Given the description of an element on the screen output the (x, y) to click on. 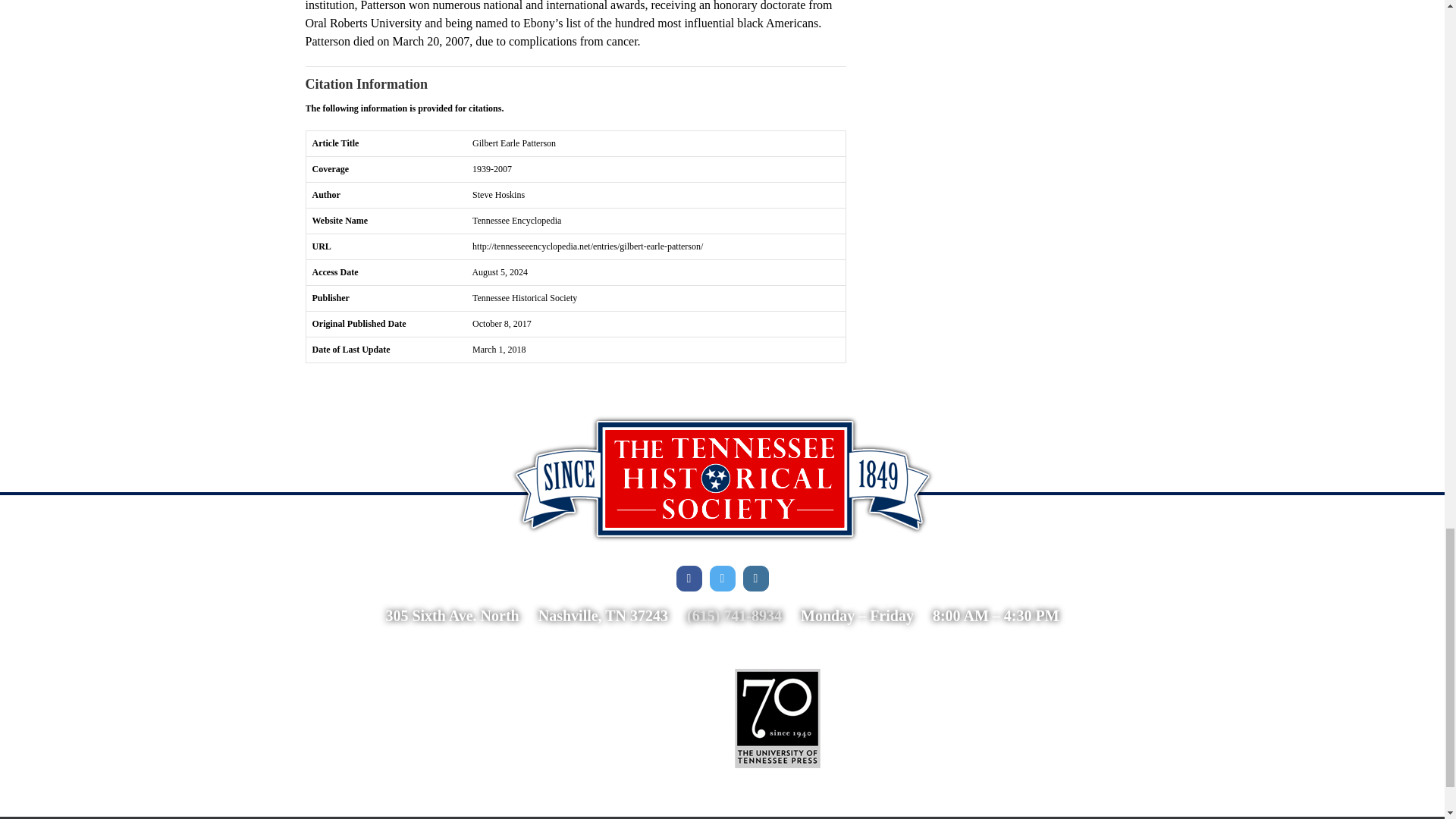
Facebook (689, 578)
Twitter (722, 578)
Instagram (755, 578)
